Given the description of an element on the screen output the (x, y) to click on. 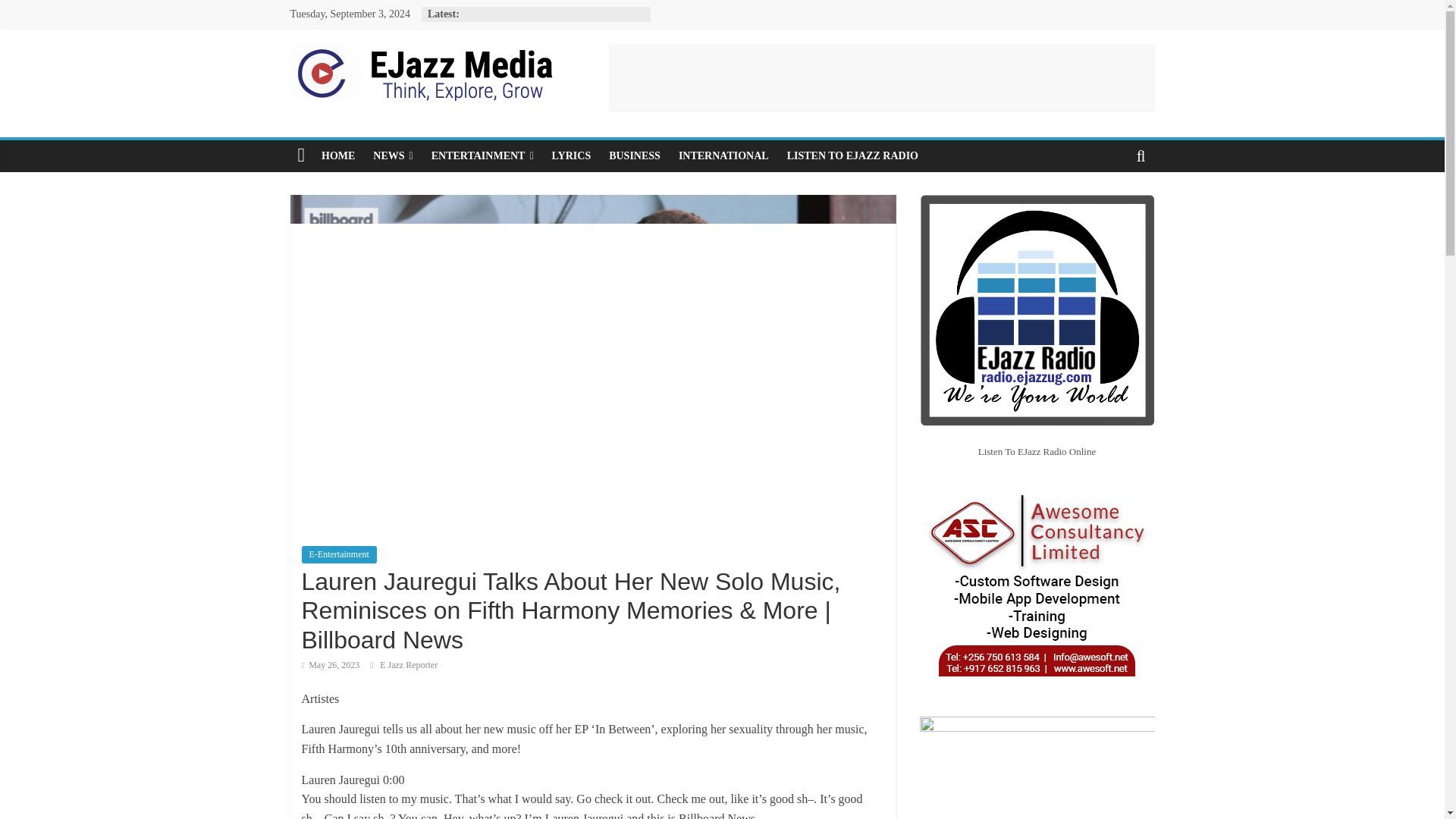
E Jazz Reporter (409, 665)
INTERNATIONAL (723, 155)
ENTERTAINMENT (482, 155)
LISTEN TO EJAZZ RADIO (852, 155)
HOME (338, 155)
E Jazz Reporter (409, 665)
May 26, 2023 (330, 665)
NEWS (393, 155)
LYRICS (571, 155)
10:46 am (330, 665)
